Given the description of an element on the screen output the (x, y) to click on. 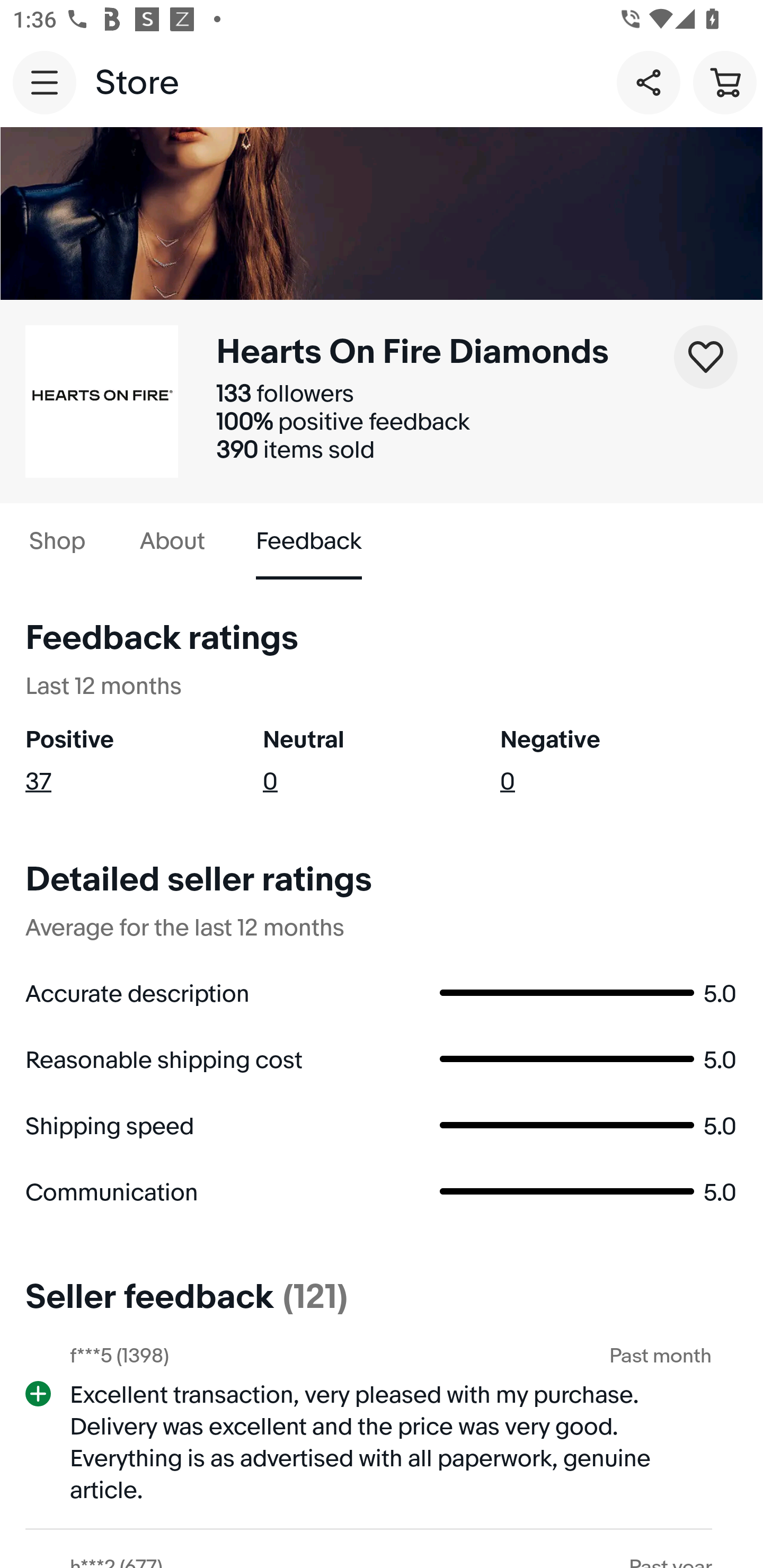
Main navigation, open (44, 82)
Share this page (648, 81)
Cart button shopping cart (724, 81)
Save this seller hearts_on_fire (705, 356)
Shop (57, 541)
About (172, 541)
positive feedback in last 12 months (143, 760)
neutral feedback in last 12 months (381, 760)
negative feedback in last 12 months (618, 760)
